Given the description of an element on the screen output the (x, y) to click on. 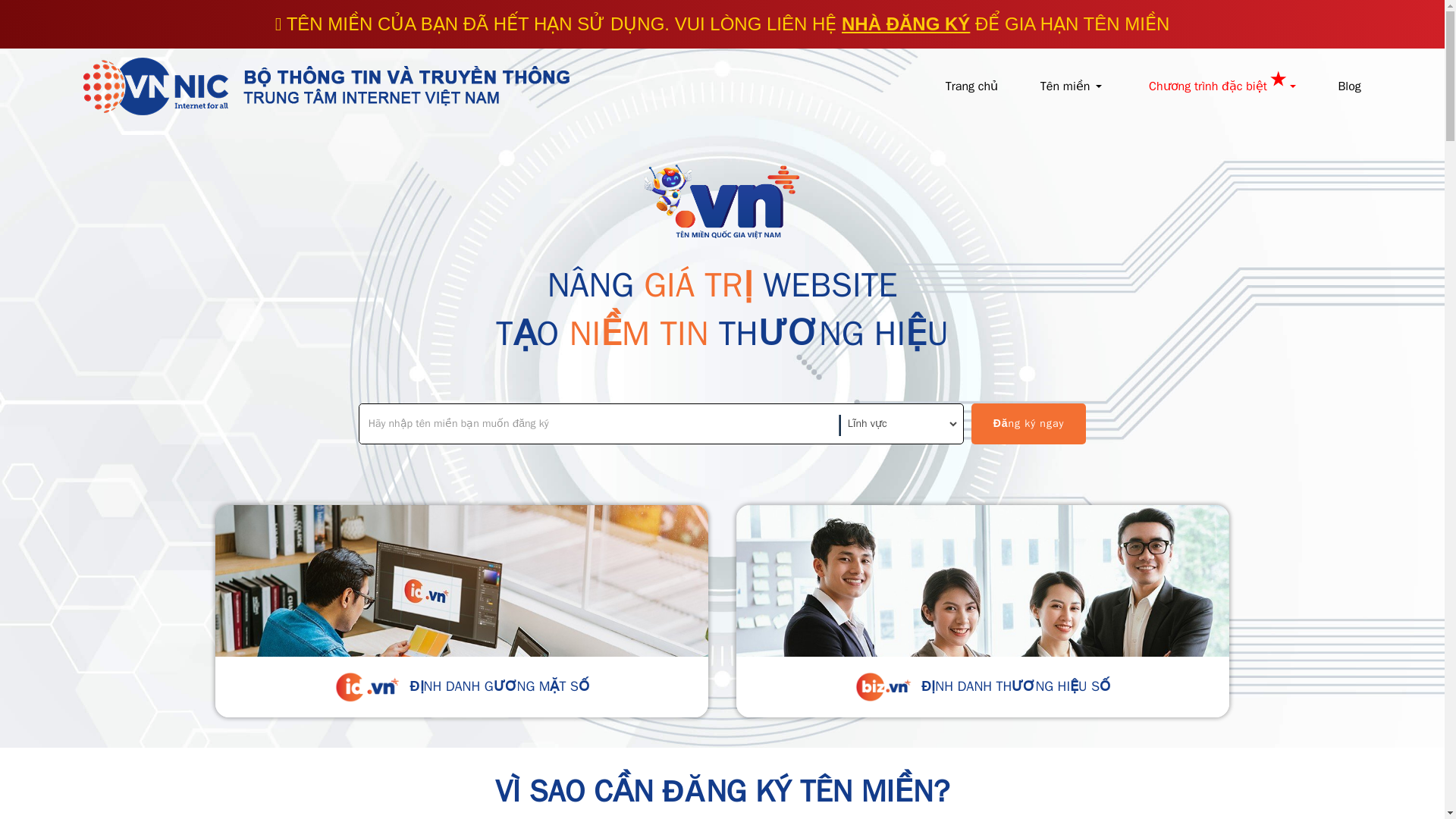
Blog (1348, 85)
